Given the description of an element on the screen output the (x, y) to click on. 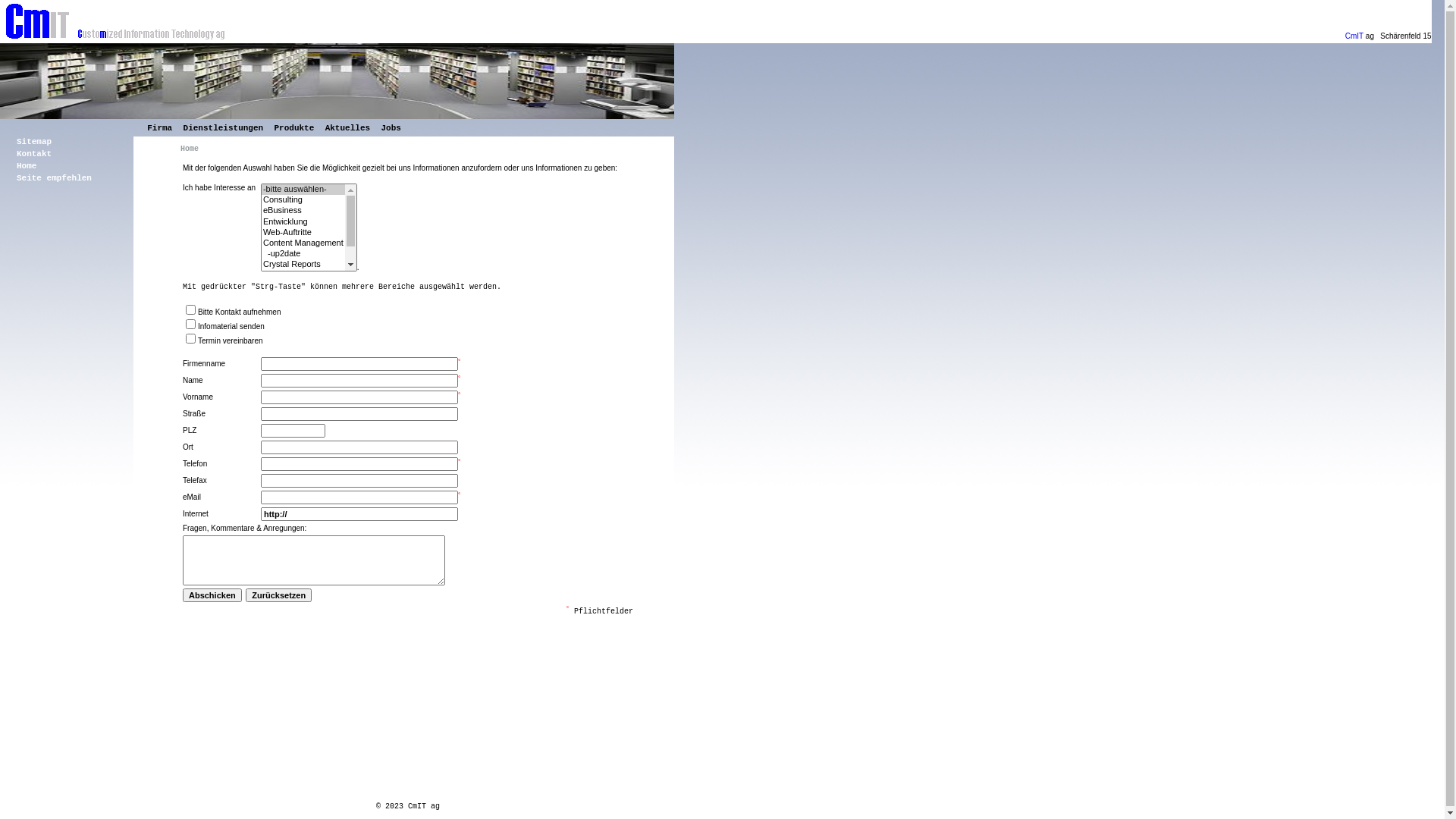
Produkte Element type: text (294, 126)
Kontakt Element type: text (33, 153)
Dienstleistungen Element type: text (223, 126)
Aktuelles Element type: text (347, 126)
Firma Element type: text (159, 126)
Abschicken Element type: text (211, 595)
Jobs Element type: text (390, 126)
Home Element type: text (26, 165)
Home Element type: text (189, 148)
Sitemap Element type: text (33, 141)
Seite empfehlen Element type: text (53, 177)
